Given the description of an element on the screen output the (x, y) to click on. 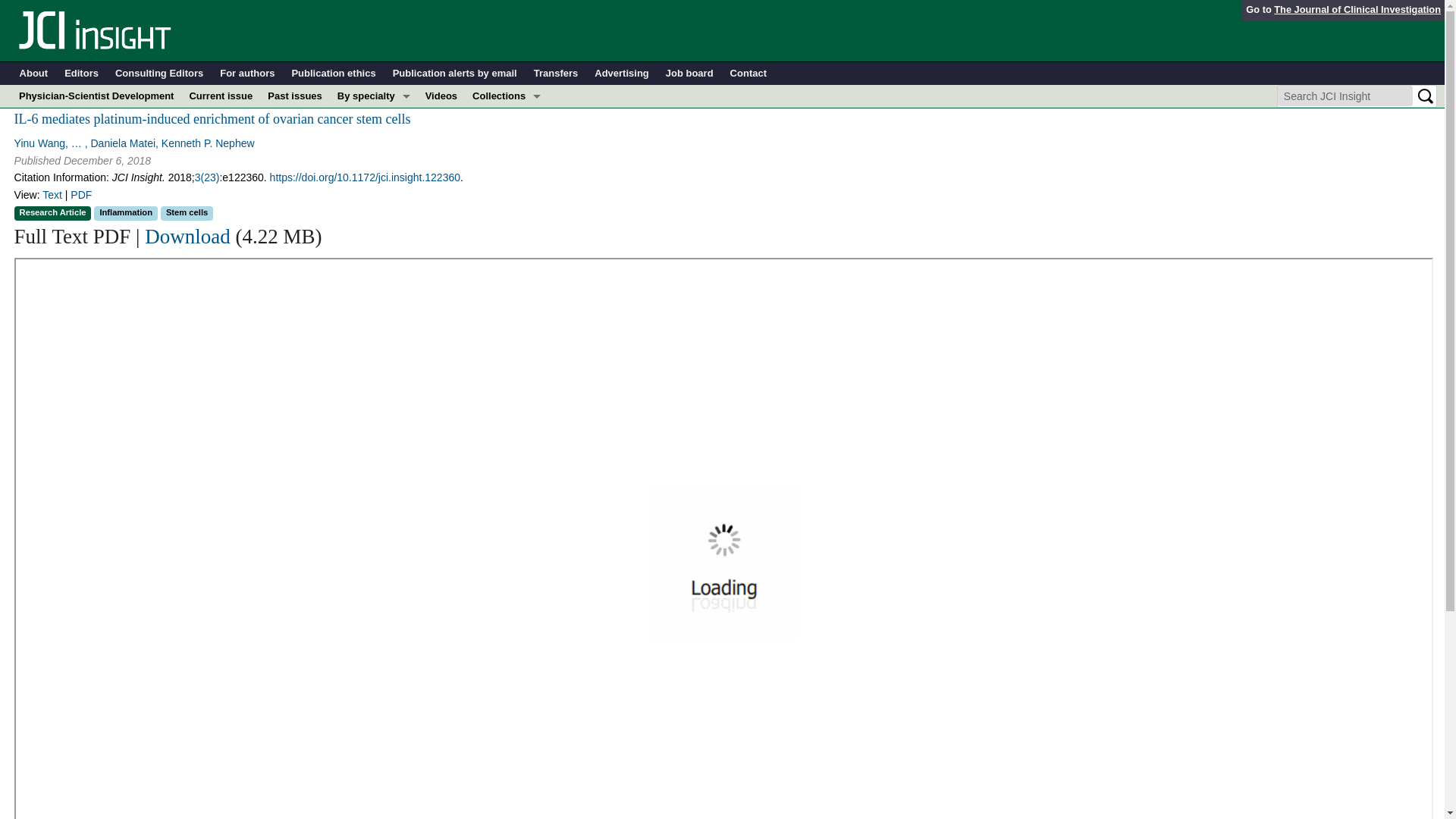
Nephrology (373, 210)
Editors (81, 73)
For authors (247, 73)
The Journal of Clinical Investigation (1357, 9)
Advertising (621, 73)
Physician-Scientist Development (506, 232)
Job board (689, 73)
Transfers (556, 73)
Cardiology (373, 141)
Immunology (373, 164)
Oncology (373, 232)
In-Press Preview (506, 118)
Videos (440, 96)
Consulting Editors (159, 73)
Publication alerts by email (454, 73)
